Given the description of an element on the screen output the (x, y) to click on. 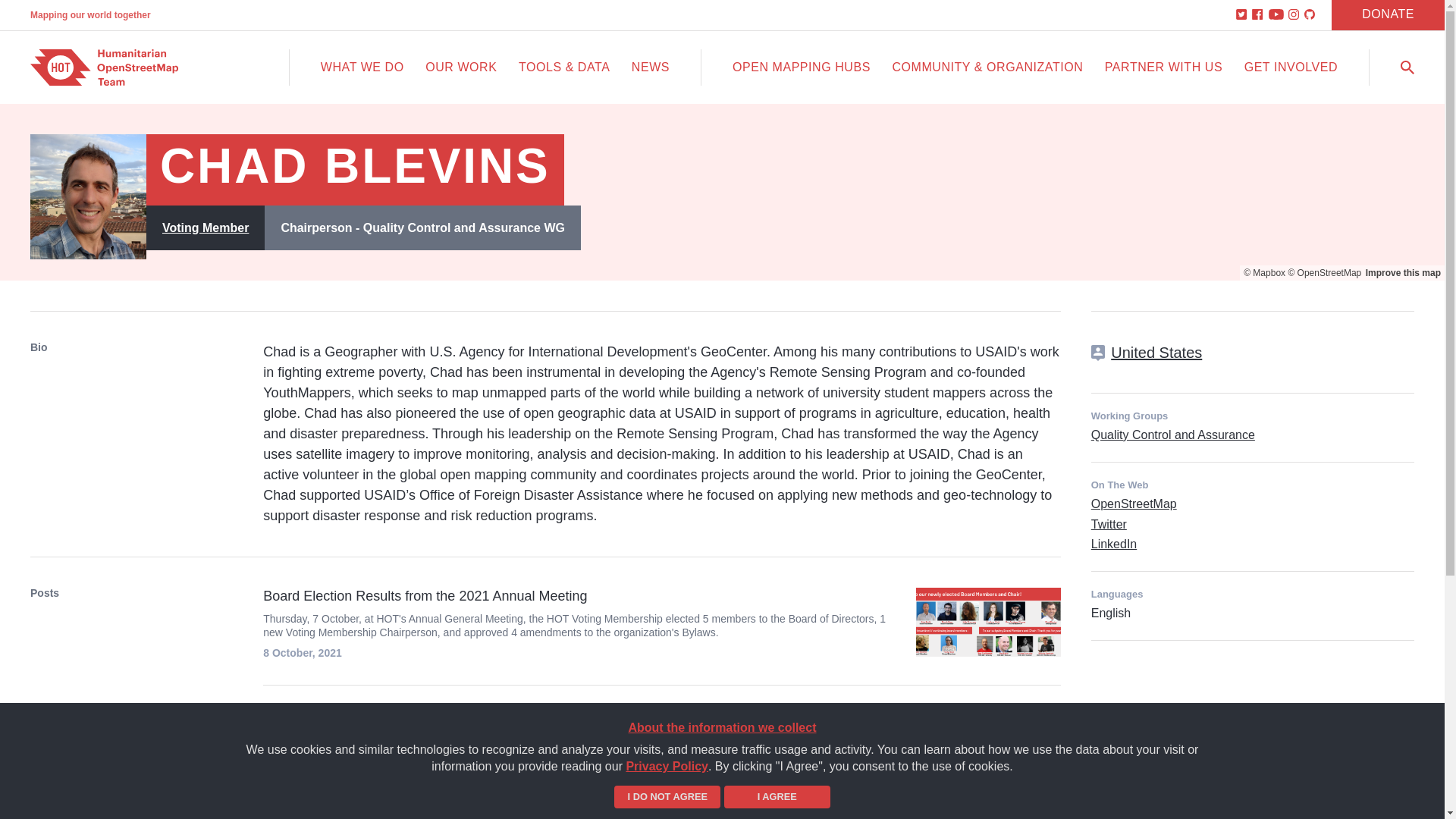
Improve this map (1403, 272)
OpenStreetMap (1133, 503)
Voting Member (204, 227)
GET INVOLVED (1291, 67)
OpenStreetMap (1324, 272)
LinkedIn (1113, 543)
Board Election Results from the 2021 Annual Meeting (579, 596)
GitHub (1310, 15)
Twitter (1108, 523)
Mapbox (1264, 272)
PARTNER WITH US (1164, 67)
Quality Control and Assurance (1172, 434)
Improve this map (1403, 272)
NEWS (650, 67)
YouTube (1276, 15)
